Given the description of an element on the screen output the (x, y) to click on. 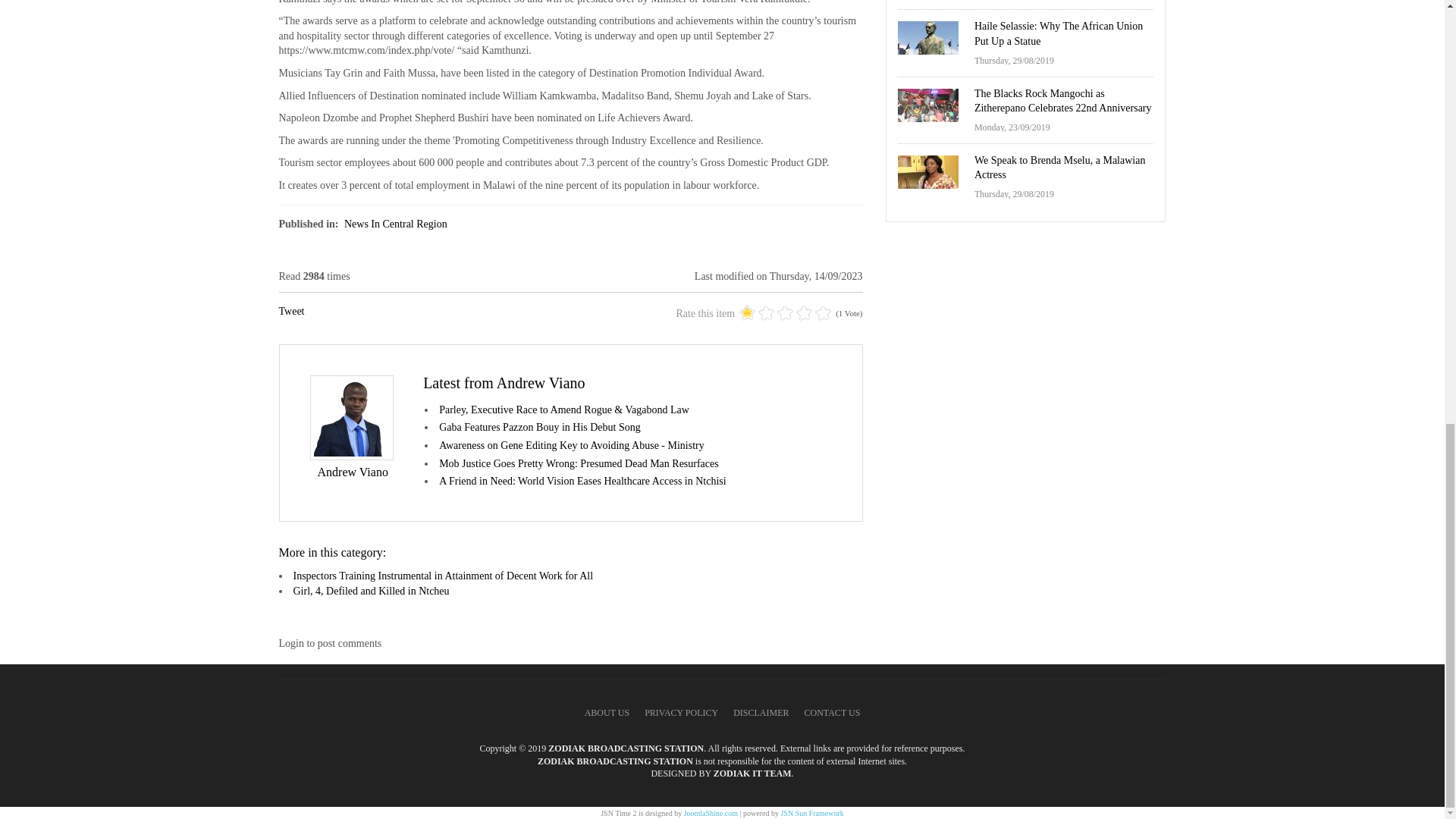
4 (775, 312)
3 (766, 312)
1 star out of 5 (747, 312)
5 stars out of 5 (785, 312)
2 (757, 312)
Andrew Viano (352, 472)
4 stars out of 5 (775, 312)
3 stars out of 5 (766, 312)
News In Central Region (394, 224)
